Given the description of an element on the screen output the (x, y) to click on. 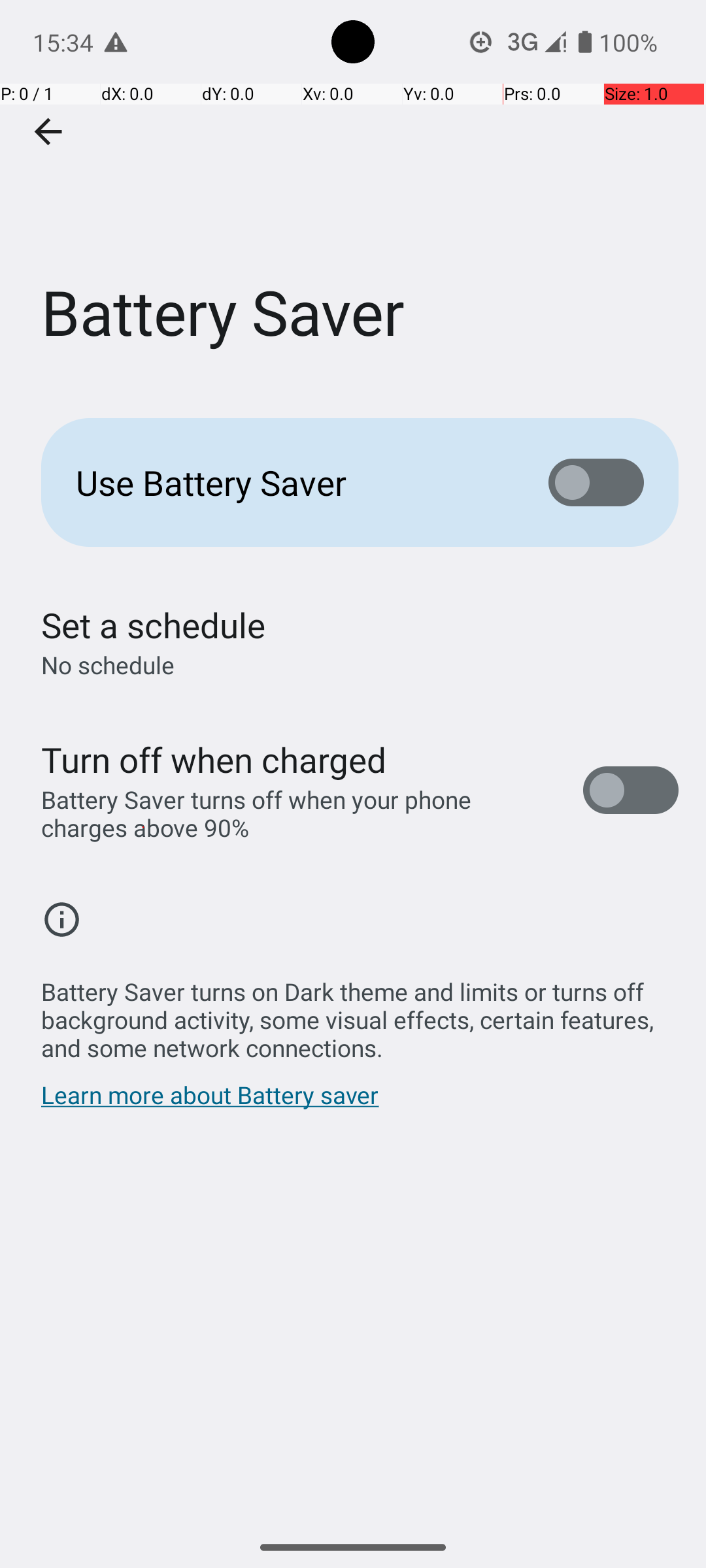
Battery Saver Element type: android.widget.FrameLayout (353, 195)
Use Battery Saver Element type: android.widget.TextView (291, 482)
Set a schedule Element type: android.widget.TextView (153, 624)
No schedule Element type: android.widget.TextView (107, 664)
Turn off when charged Element type: android.widget.TextView (213, 759)
Battery Saver turns off when your phone charges above 90% Element type: android.widget.TextView (298, 813)
Battery Saver turns on Dark theme and limits or turns off background activity, some visual effects, certain features, and some network connections. Element type: android.widget.TextView (359, 1012)
Learn more about Battery saver Element type: android.widget.TextView (210, 1101)
